Given the description of an element on the screen output the (x, y) to click on. 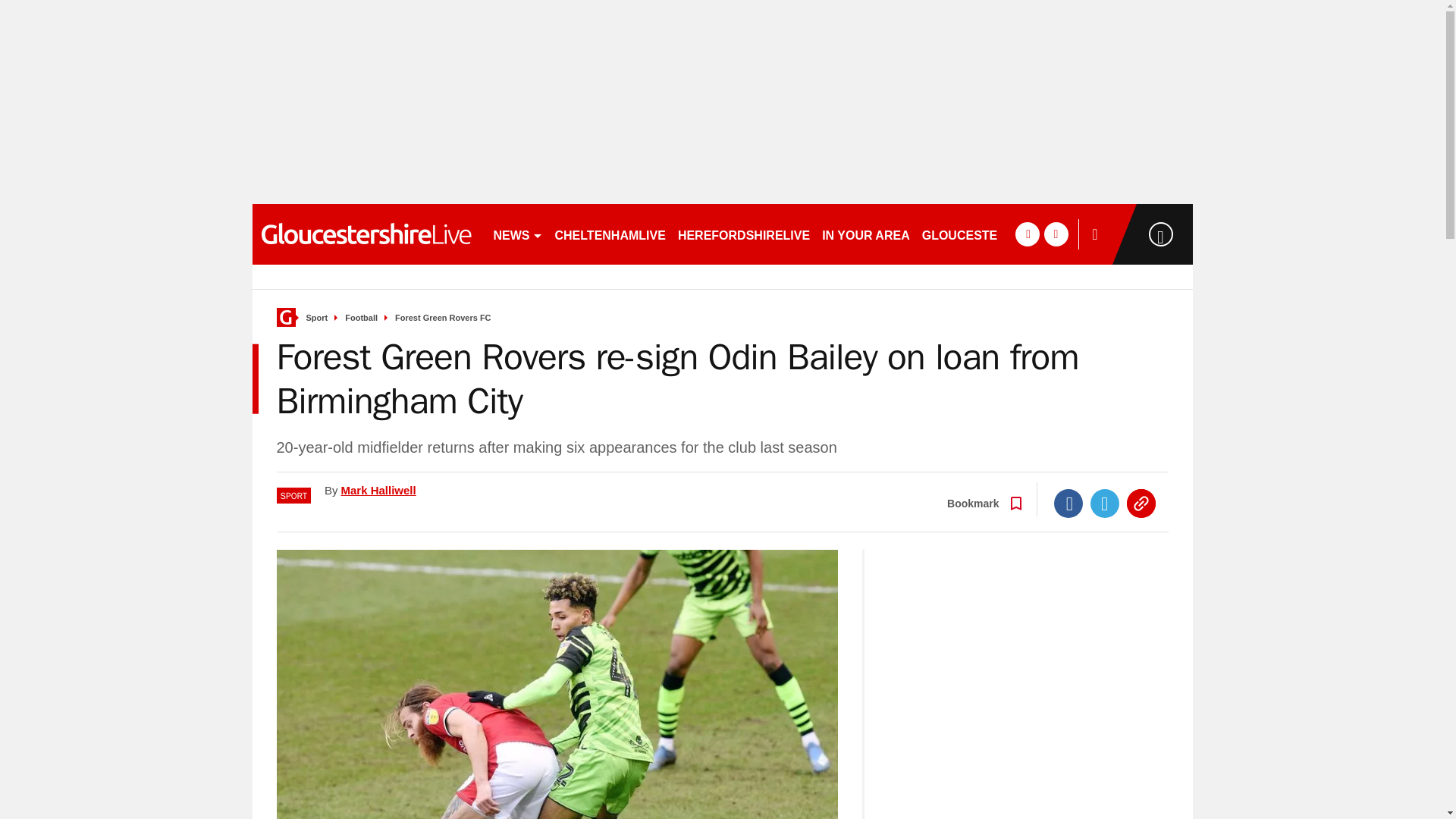
GLOUCESTER NEWS (983, 233)
IN YOUR AREA (865, 233)
facebook (1026, 233)
HEREFORDSHIRELIVE (743, 233)
Facebook (1068, 502)
Twitter (1104, 502)
NEWS (517, 233)
CHELTENHAMLIVE (609, 233)
twitter (1055, 233)
gloucestershirelive (365, 233)
